Given the description of an element on the screen output the (x, y) to click on. 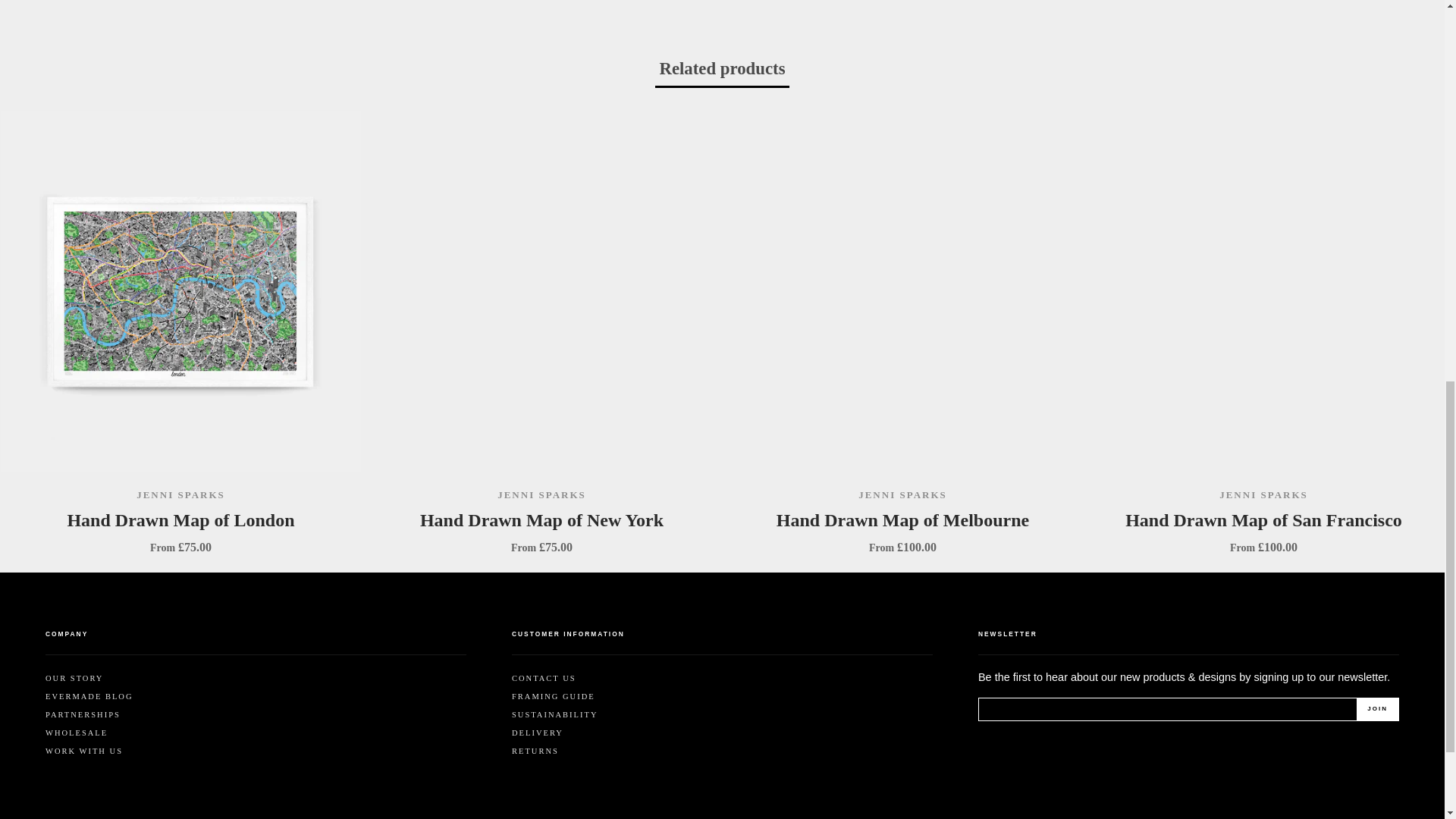
Join (1376, 709)
